Given the description of an element on the screen output the (x, y) to click on. 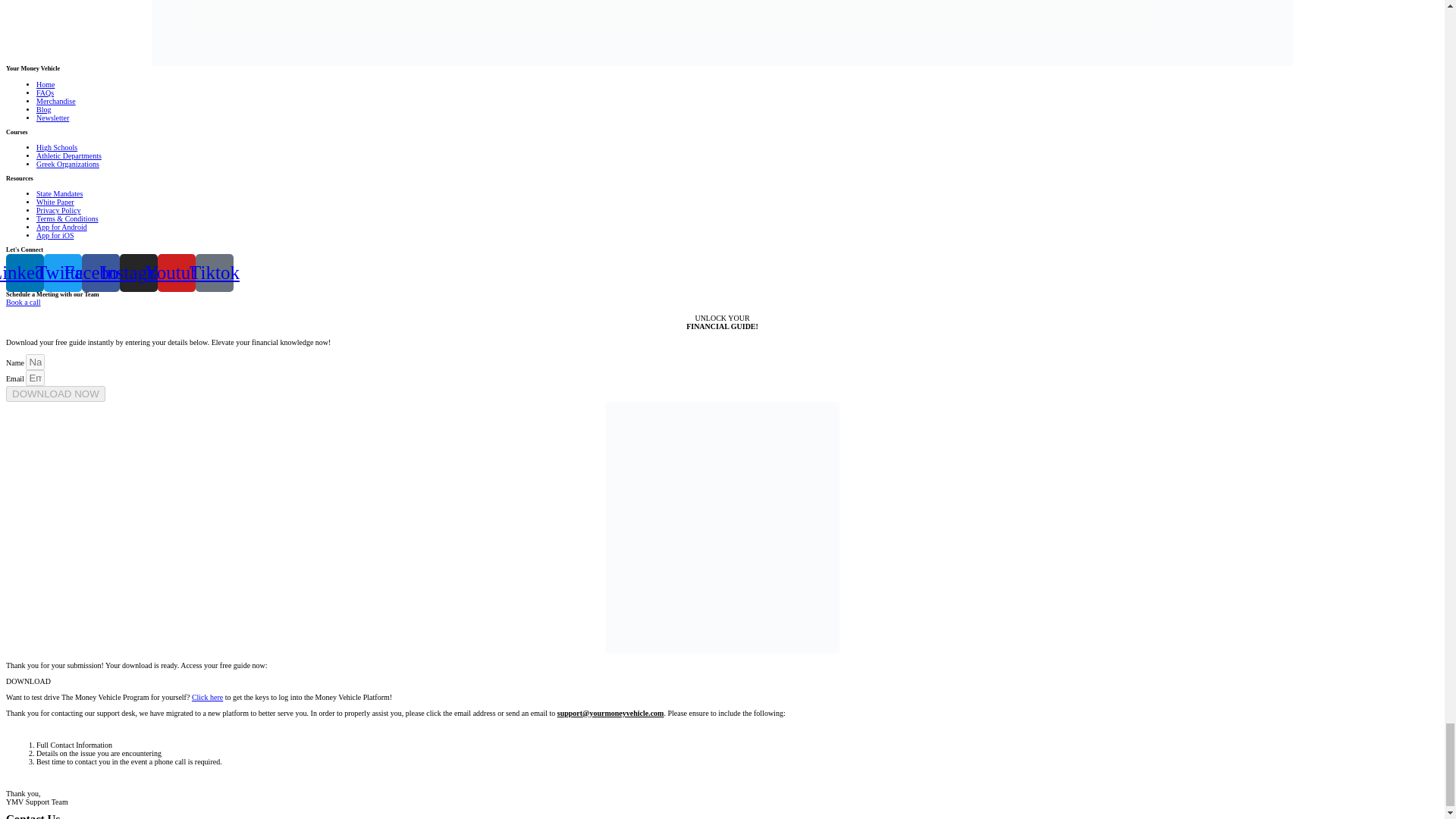
JumpStart-NationalPartnerEmblemTM2 (721, 33)
